Given the description of an element on the screen output the (x, y) to click on. 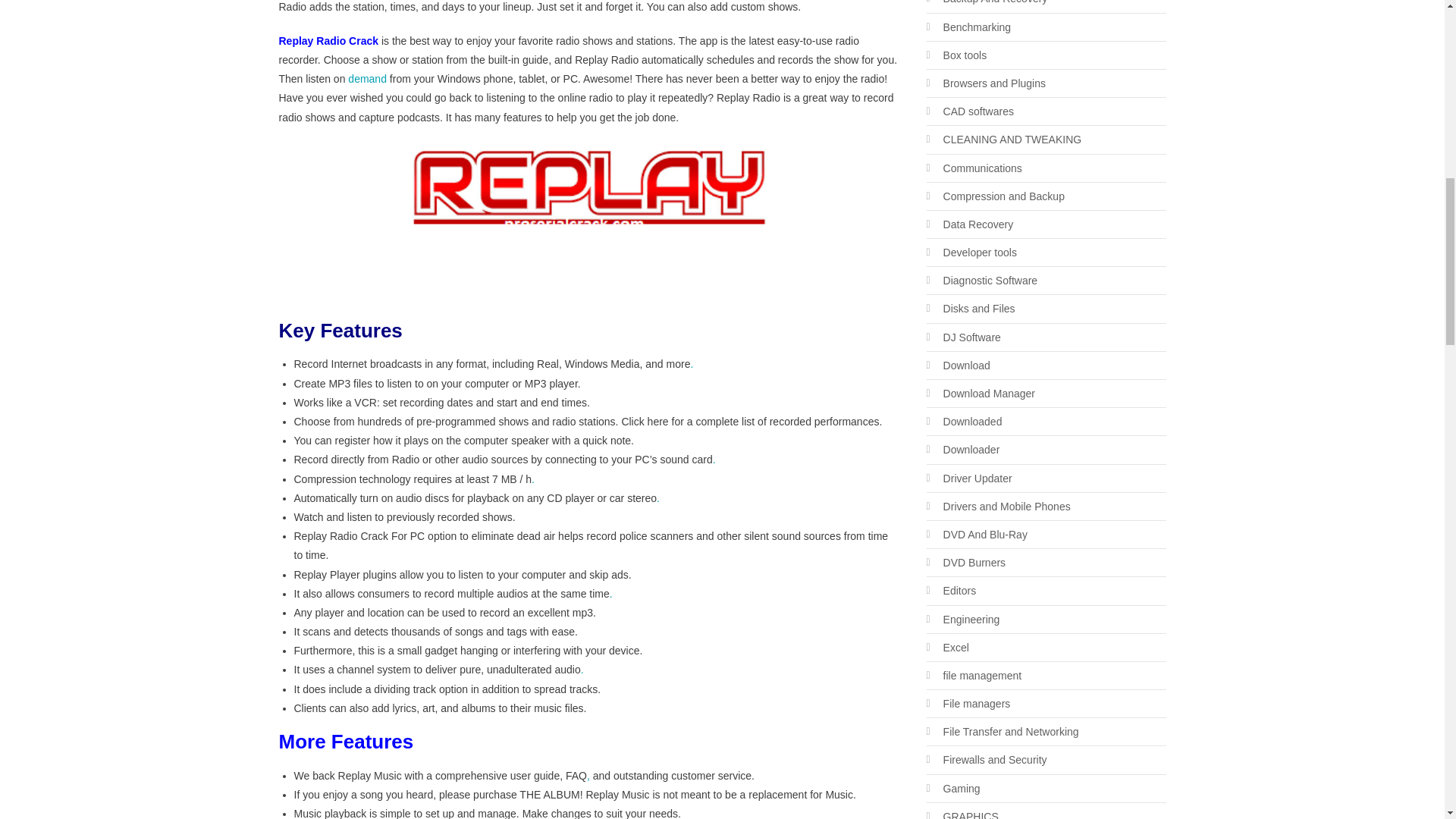
demand (367, 78)
Replay Radio Crack (589, 222)
